Given the description of an element on the screen output the (x, y) to click on. 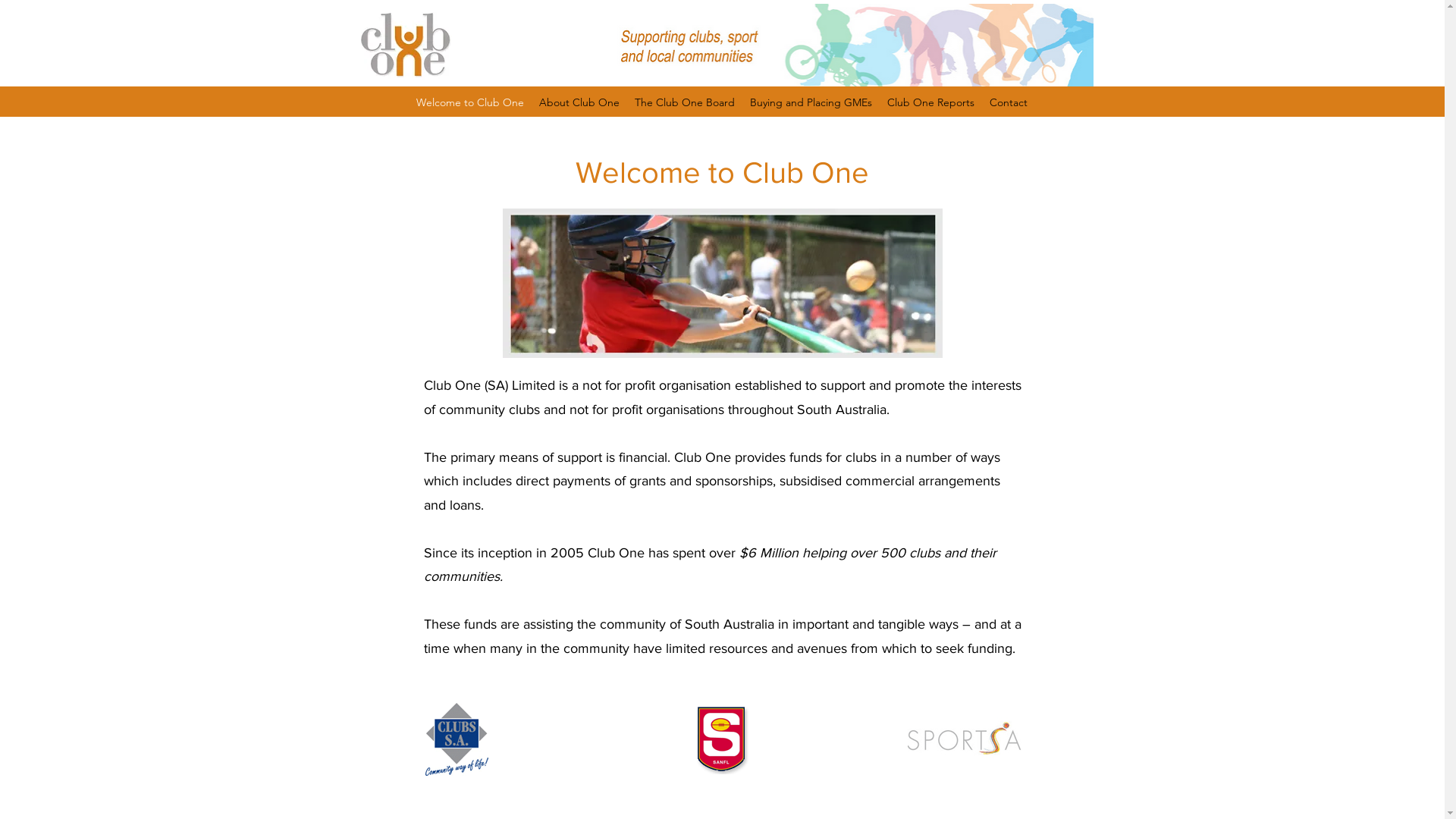
About Club One Element type: text (579, 102)
Welcome to Club One Element type: text (469, 102)
Club One Reports Element type: text (930, 102)
The Club One Board Element type: text (684, 102)
Contact Element type: text (1008, 102)
Buying and Placing GMEs Element type: text (810, 102)
